Given the description of an element on the screen output the (x, y) to click on. 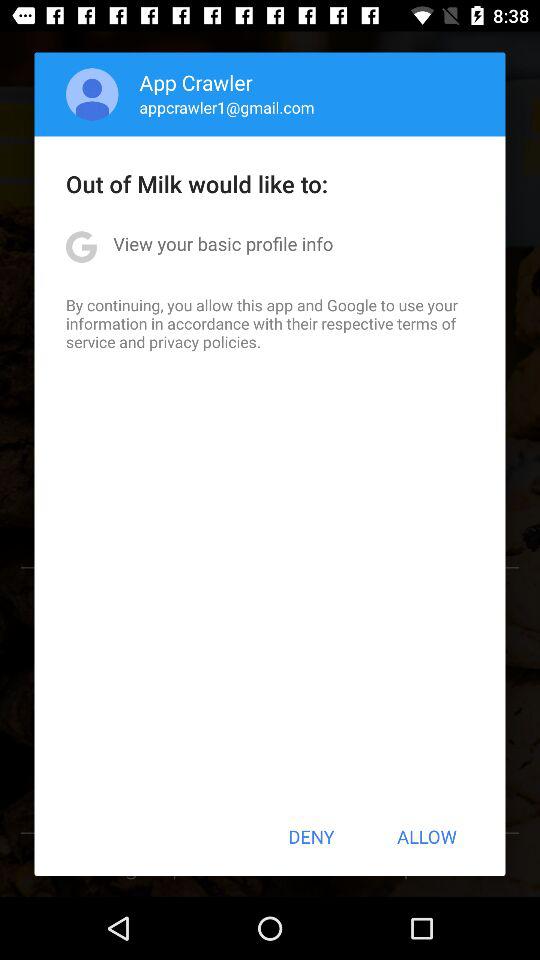
swipe until view your basic icon (223, 243)
